Given the description of an element on the screen output the (x, y) to click on. 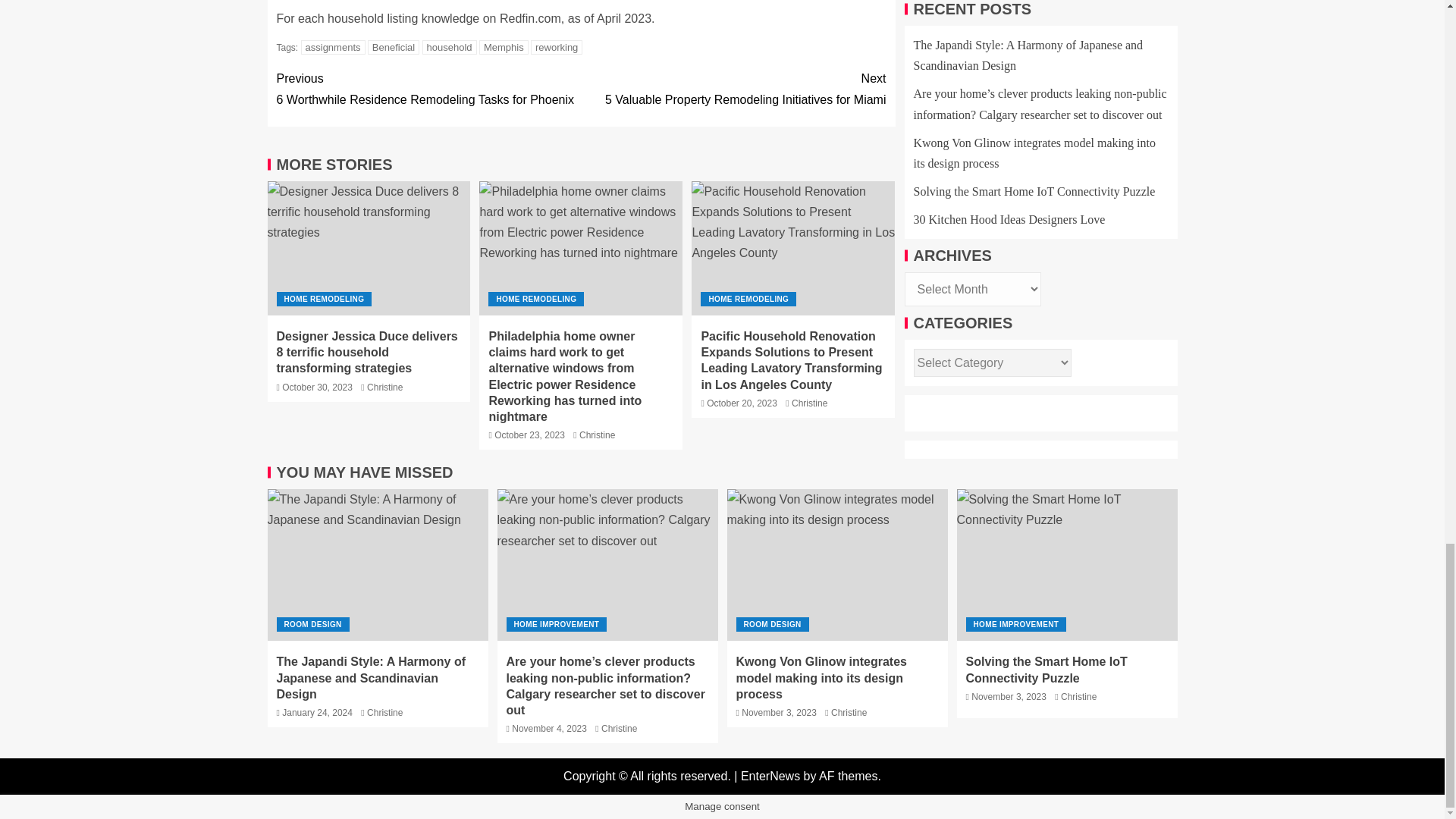
HOME REMODELING (535, 298)
household (428, 87)
reworking (449, 47)
Christine (556, 47)
HOME REMODELING (384, 386)
assignments (323, 298)
Solving the Smart Home IoT Connectivity Puzzle (732, 87)
